Given the description of an element on the screen output the (x, y) to click on. 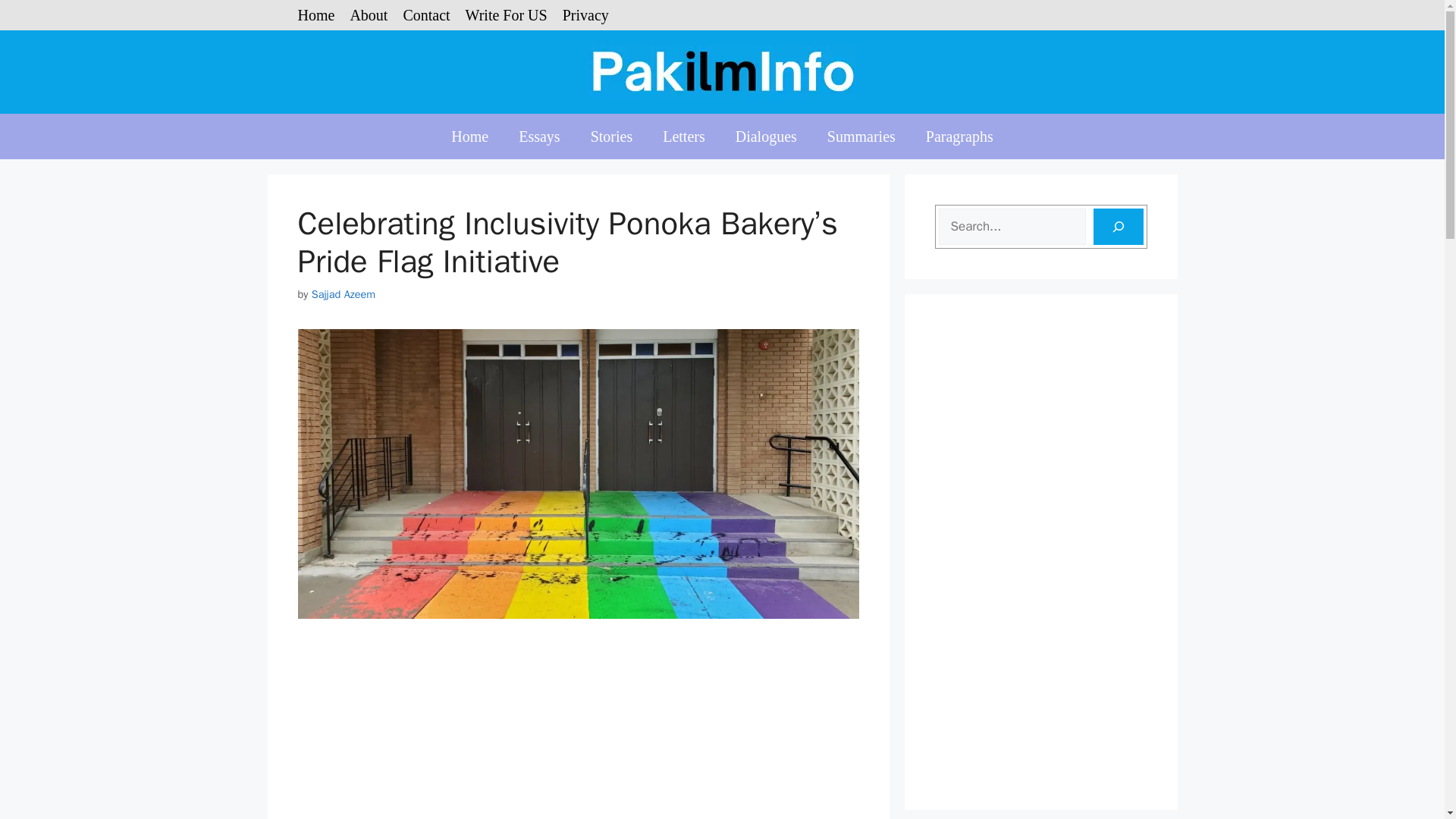
Privacy (585, 14)
About (368, 14)
Advertisement (578, 731)
Sajjad Azeem (343, 294)
Dialogues (766, 135)
Contact (426, 14)
Summaries (861, 135)
Essays (539, 135)
Write For US (506, 14)
Stories (611, 135)
Letters (683, 135)
Home (469, 135)
View all posts by Sajjad Azeem (343, 294)
Paragraphs (960, 135)
Home (315, 14)
